Given the description of an element on the screen output the (x, y) to click on. 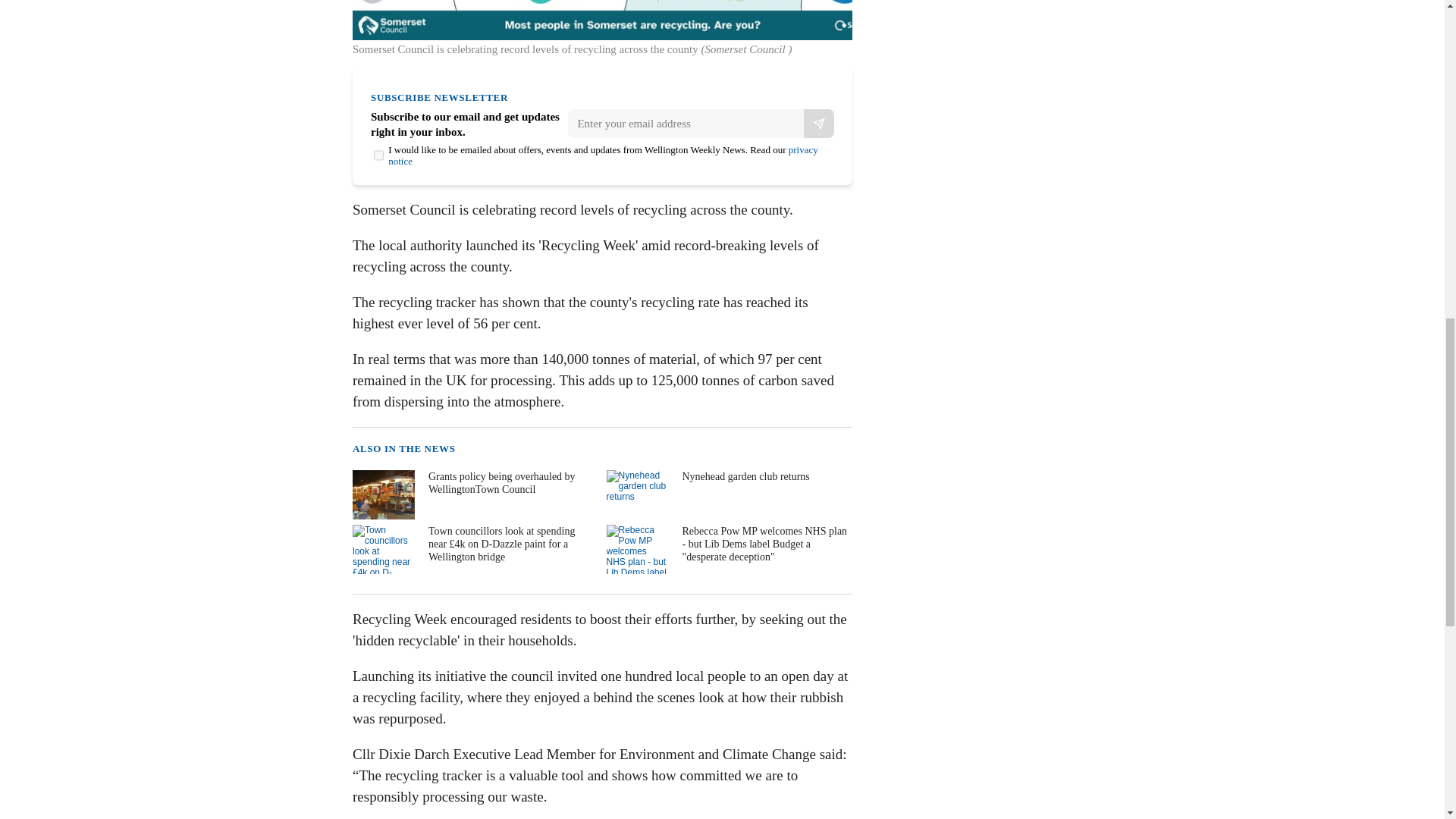
Grants policy being overhauled by WellingtonTown Council (473, 494)
Nynehead garden club returns (727, 494)
privacy notice (603, 155)
